Given the description of an element on the screen output the (x, y) to click on. 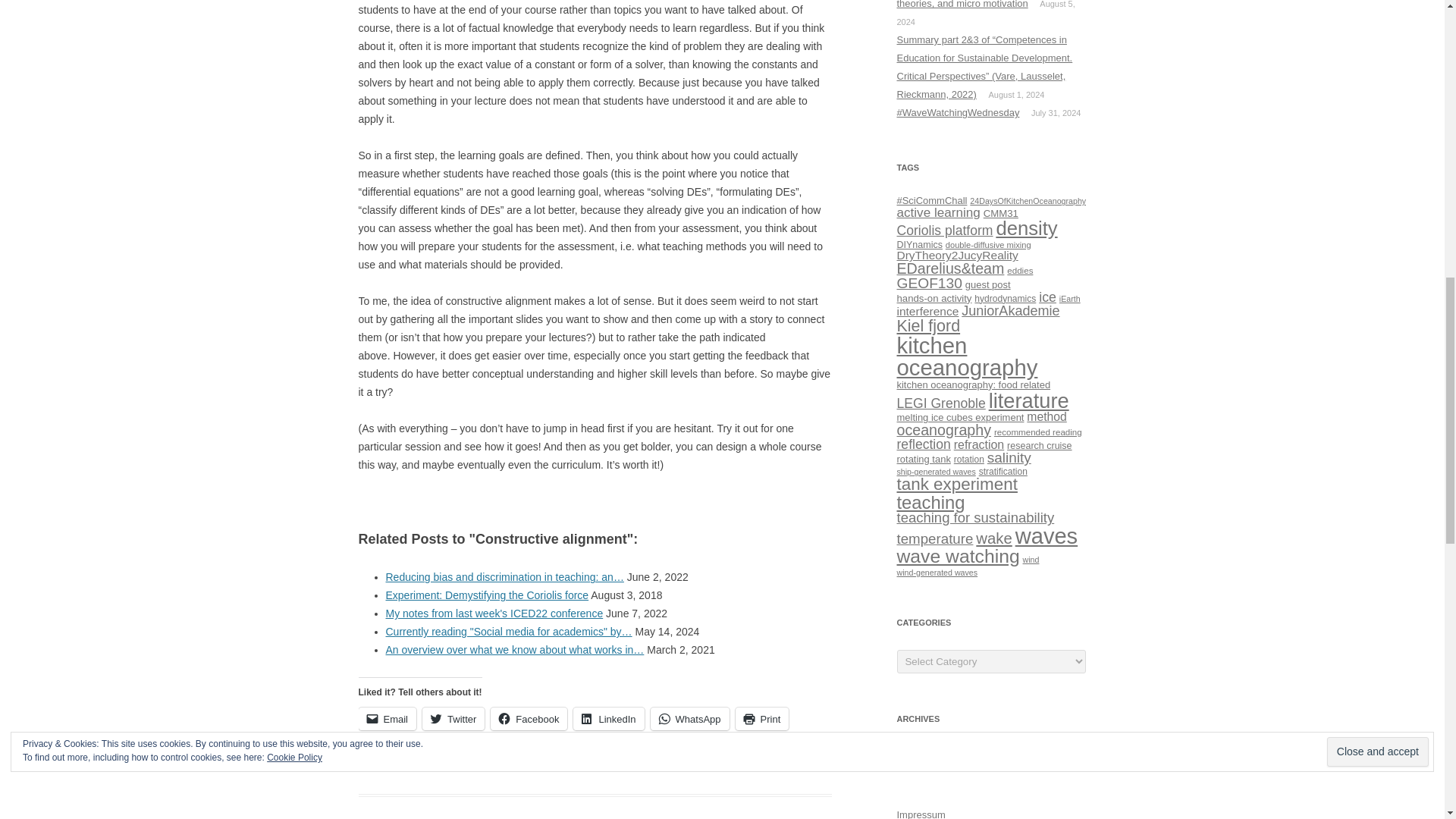
Click to share on Facebook (528, 718)
Click to share on Twitter (453, 718)
Click to print (762, 718)
View all posts by mglessmer (763, 766)
Email (387, 718)
11:30 AM (695, 766)
Click to share on LinkedIn (608, 718)
Experiment: Demystifying the Coriolis force (486, 594)
Click to email a link to a friend (387, 718)
Click to share on WhatsApp (689, 718)
